Given the description of an element on the screen output the (x, y) to click on. 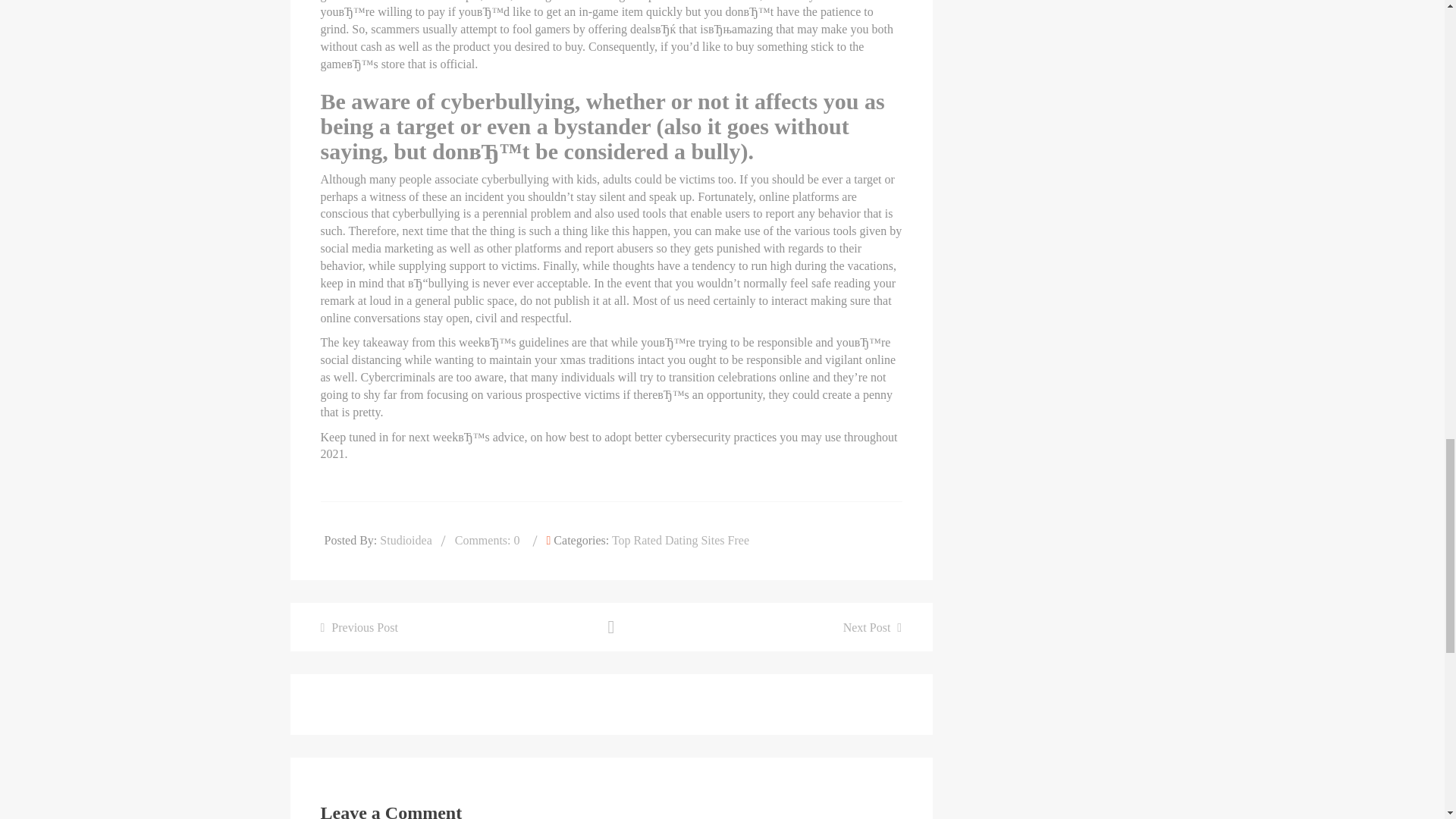
Next Post (872, 626)
Previous Post (358, 626)
Top Rated Dating Sites Free (680, 540)
Studioidea (405, 540)
Comments: 0 (486, 540)
